Given the description of an element on the screen output the (x, y) to click on. 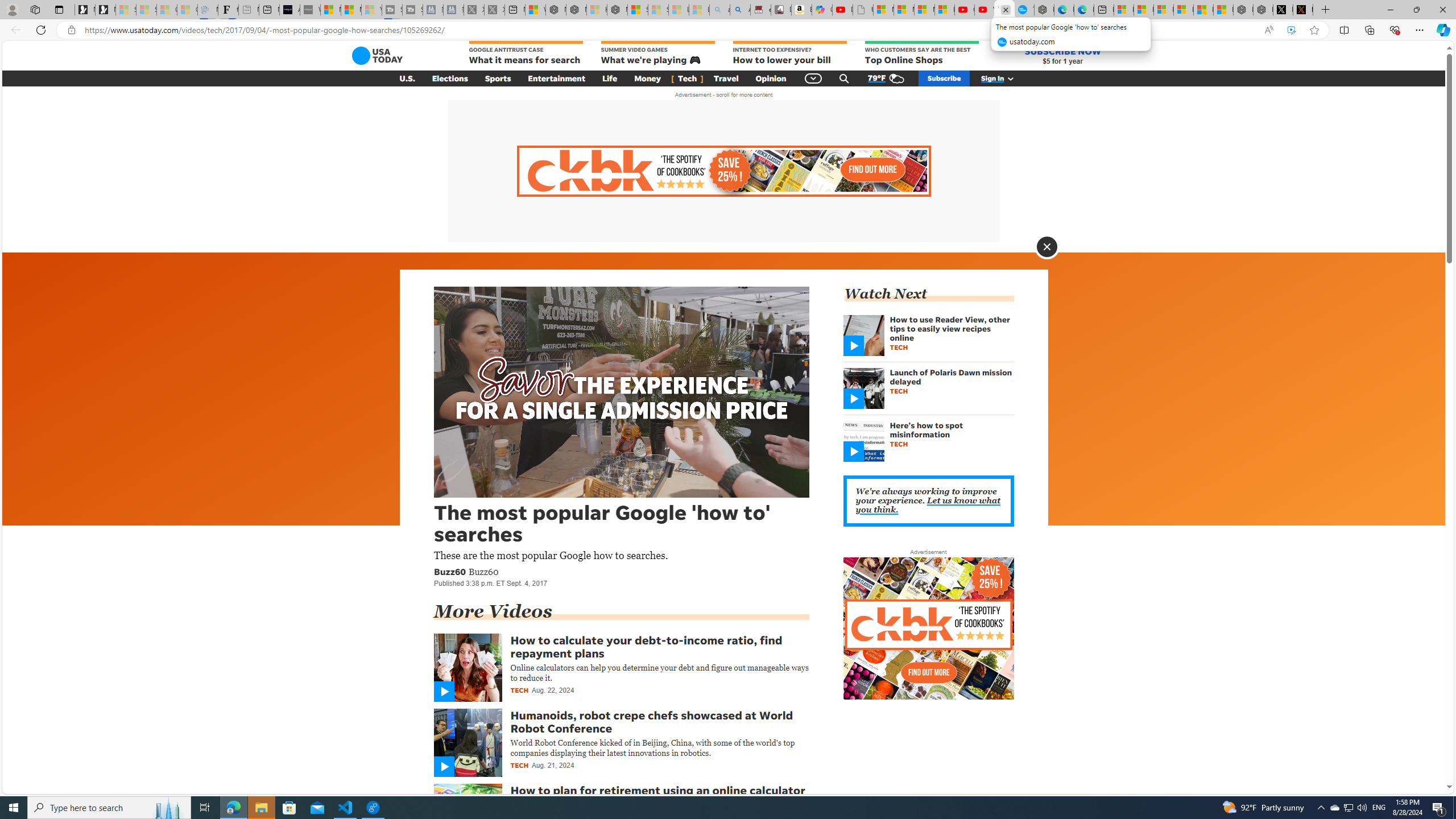
Travel (725, 78)
Amazon Echo Dot PNG - Search Images (740, 9)
What's the best AI voice generator? - voice.ai - Sleeping (309, 9)
USA TODAY (376, 55)
